Given the description of an element on the screen output the (x, y) to click on. 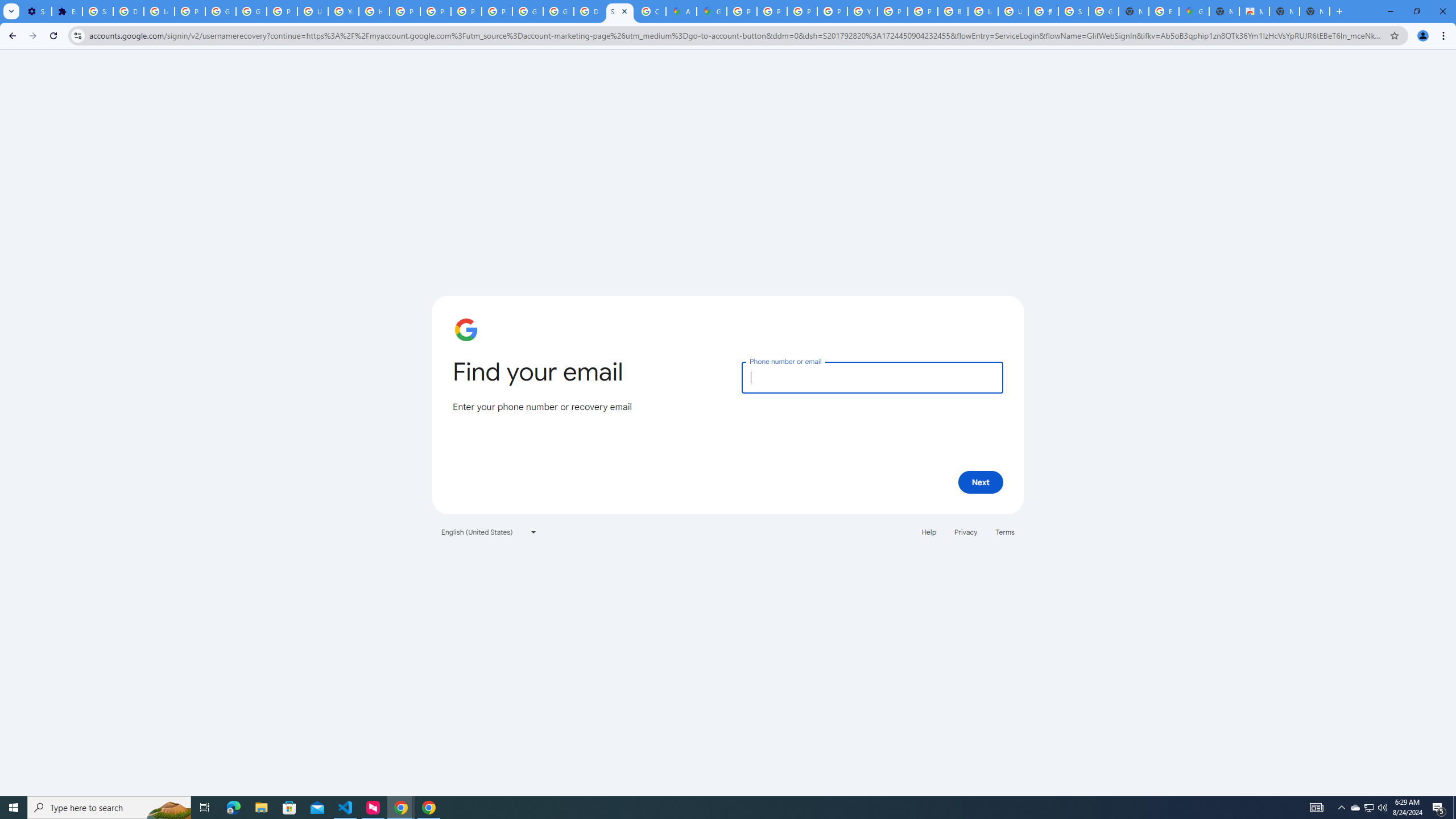
Explore new street-level details - Google Maps Help (1163, 11)
Google Maps (1193, 11)
Google Account Help (220, 11)
https://scholar.google.com/ (373, 11)
